Given the description of an element on the screen output the (x, y) to click on. 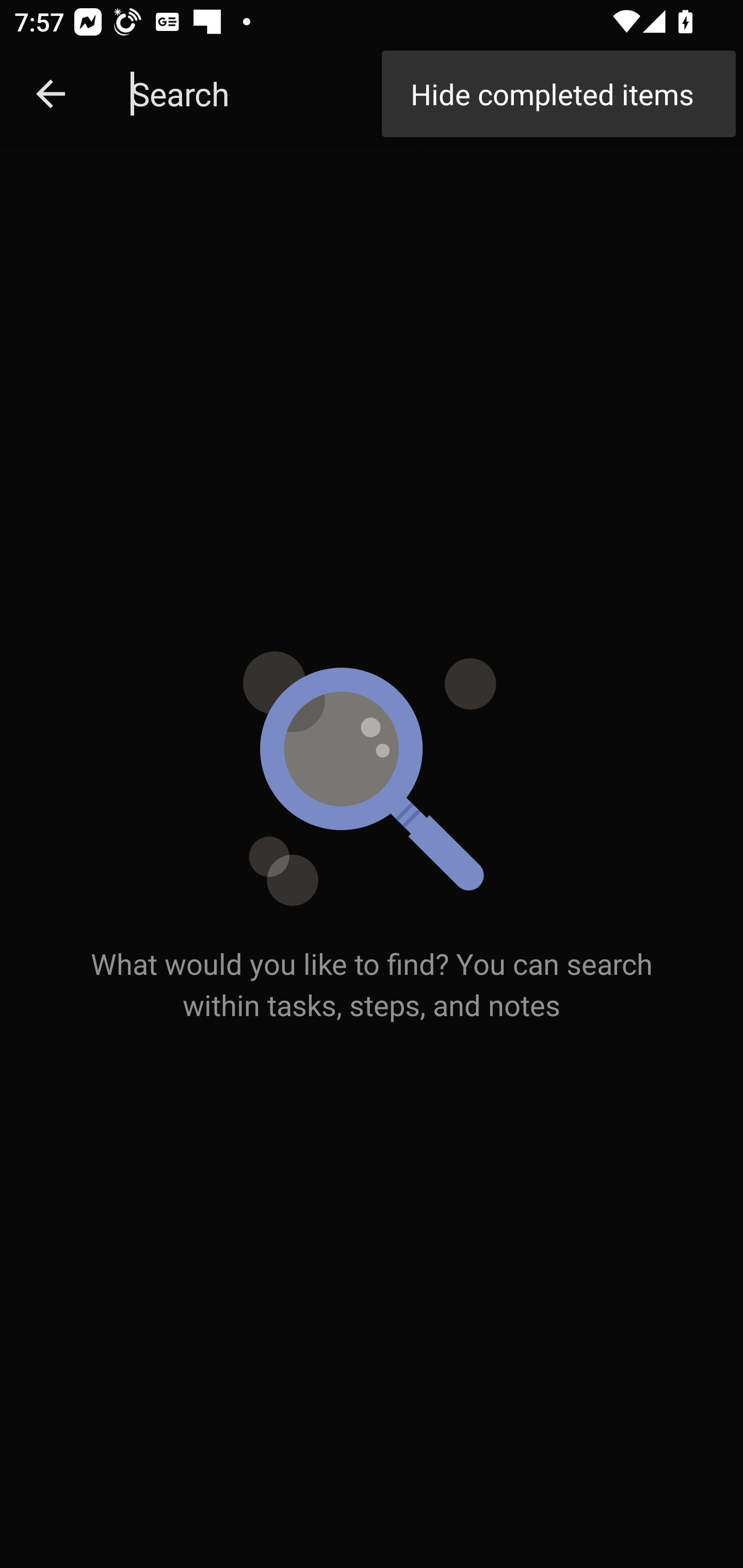
Hide completed items (558, 93)
